Given the description of an element on the screen output the (x, y) to click on. 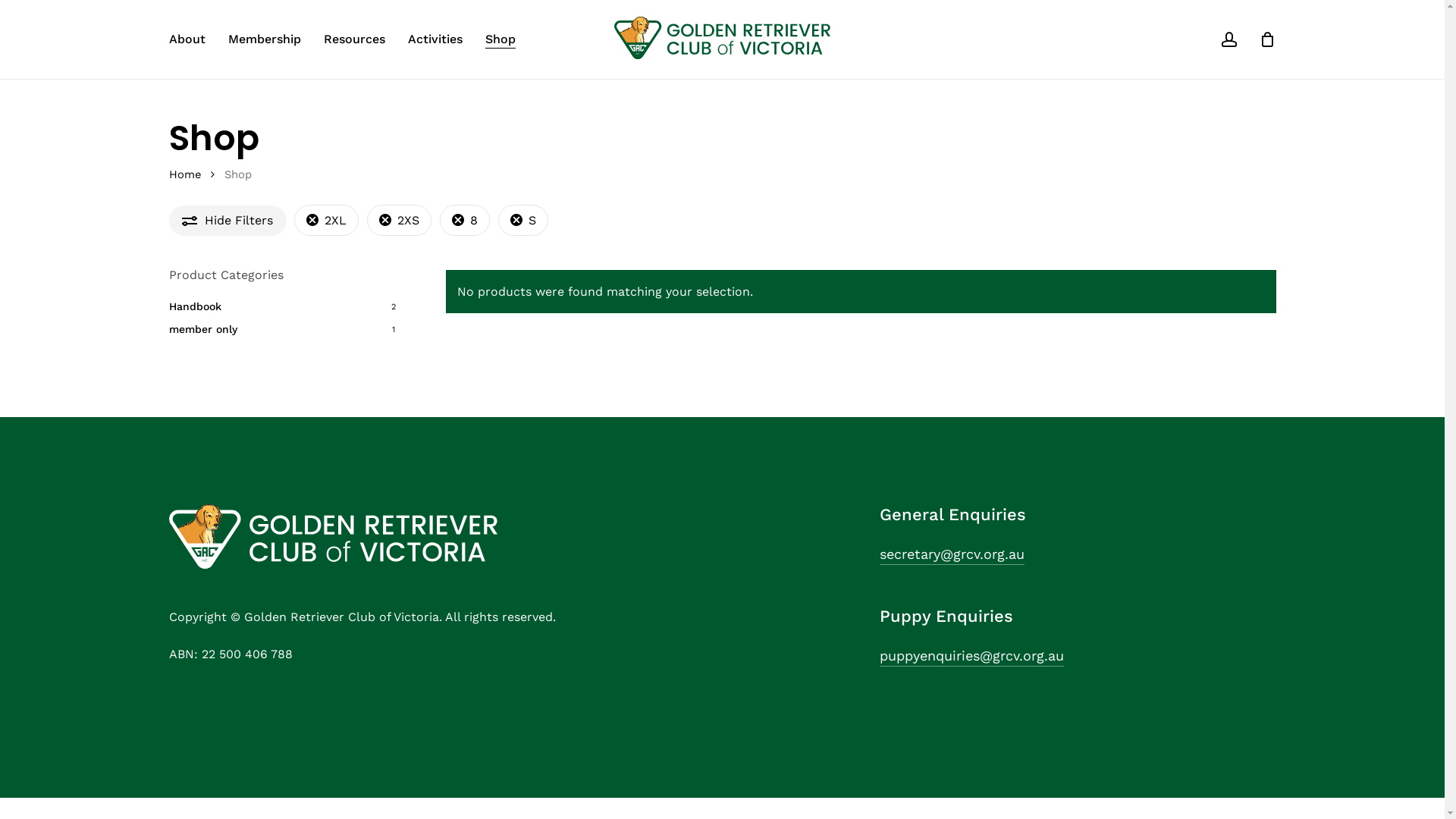
Activities Element type: text (434, 39)
member only Element type: text (284, 329)
secretary@grcv.org.au Element type: text (951, 553)
About Element type: text (186, 39)
8 Element type: text (464, 219)
puppyenquiries@grcv.org.au Element type: text (971, 655)
S Element type: text (522, 219)
Membership Element type: text (263, 39)
2XS Element type: text (399, 219)
Resources Element type: text (353, 39)
account Element type: text (1228, 39)
Shop Element type: text (500, 39)
2XL Element type: text (326, 219)
Handbook Element type: text (284, 306)
Home Element type: text (184, 174)
Hide
Filters Element type: text (226, 220)
